Given the description of an element on the screen output the (x, y) to click on. 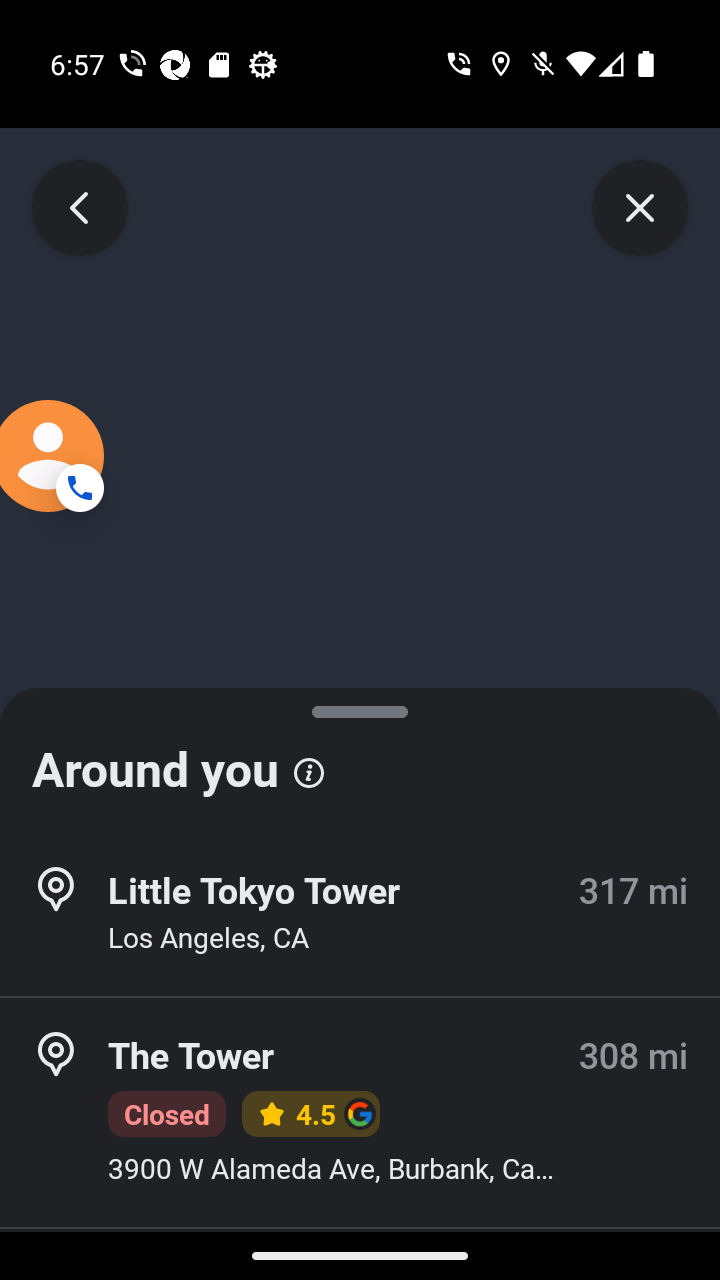
Around you (360, 760)
Little Tokyo Tower 317 mi Los Angeles, CA (360, 914)
